Given the description of an element on the screen output the (x, y) to click on. 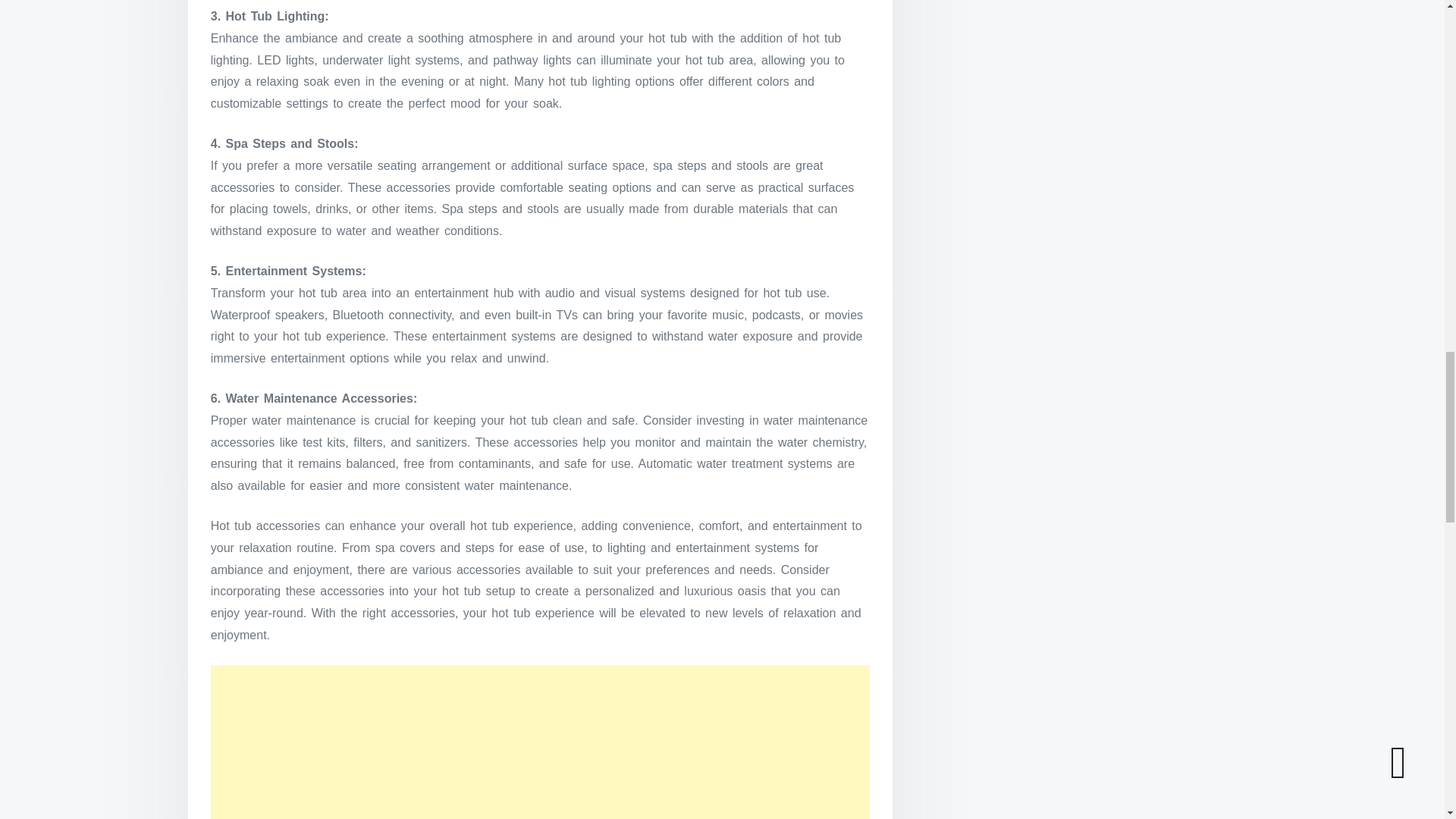
Advertisement (540, 742)
